Given the description of an element on the screen output the (x, y) to click on. 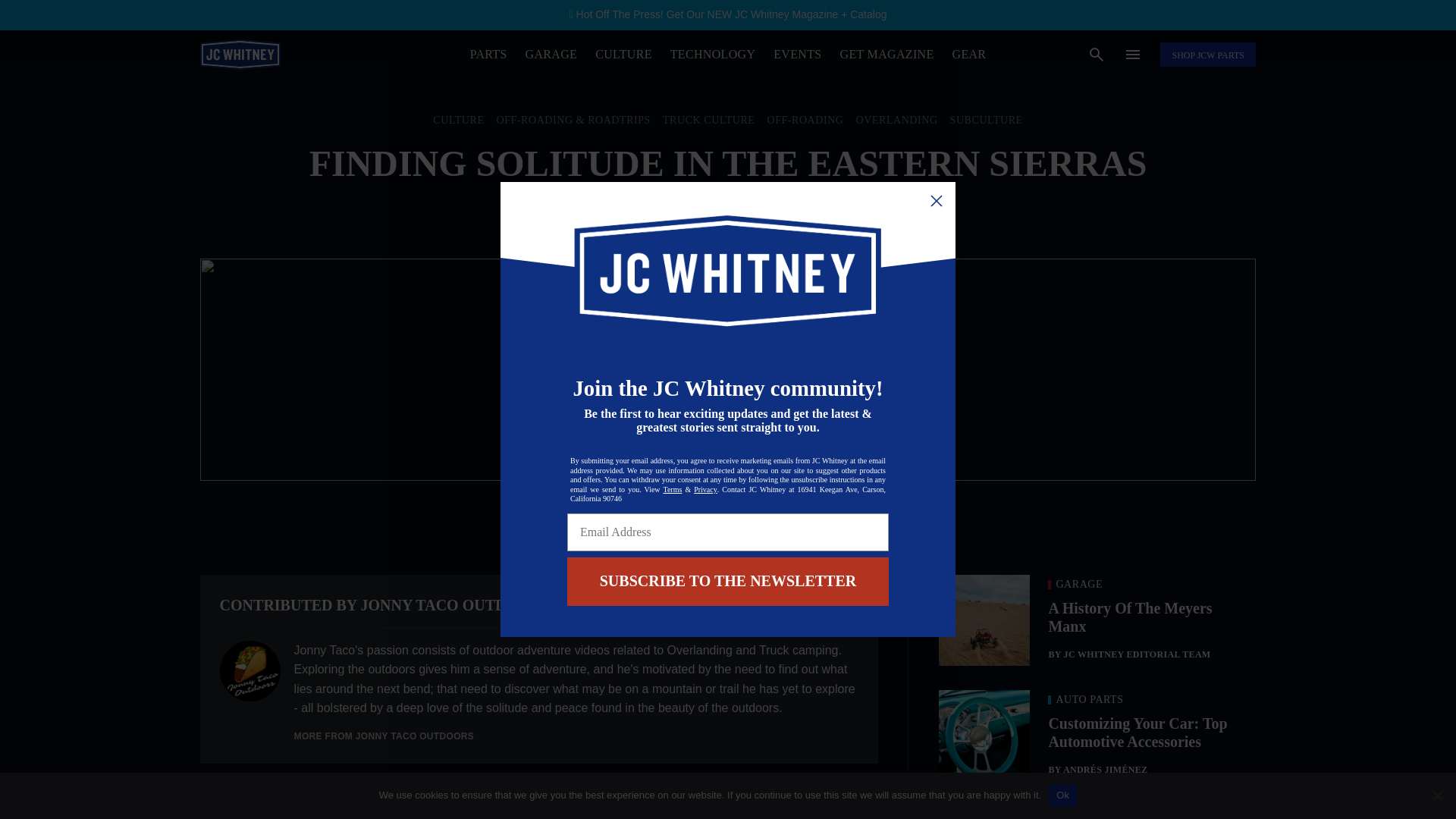
EVENTS (797, 53)
OVERLANDING (896, 120)
SHOP JCW PARTS (1207, 54)
CULTURE (623, 53)
OFF-ROADING (805, 120)
CULTURE (457, 120)
PARTS (488, 53)
MORE FROM JONNY TACO OUTDOORS (384, 736)
VIEW AUTHOR WEBSITE (794, 604)
GARAGE (551, 53)
TRUCK CULTURE (708, 120)
TECHNOLOGY (712, 53)
BY JONNY TACO OUTDOORS (727, 212)
SUBCULTURE (986, 120)
